Given the description of an element on the screen output the (x, y) to click on. 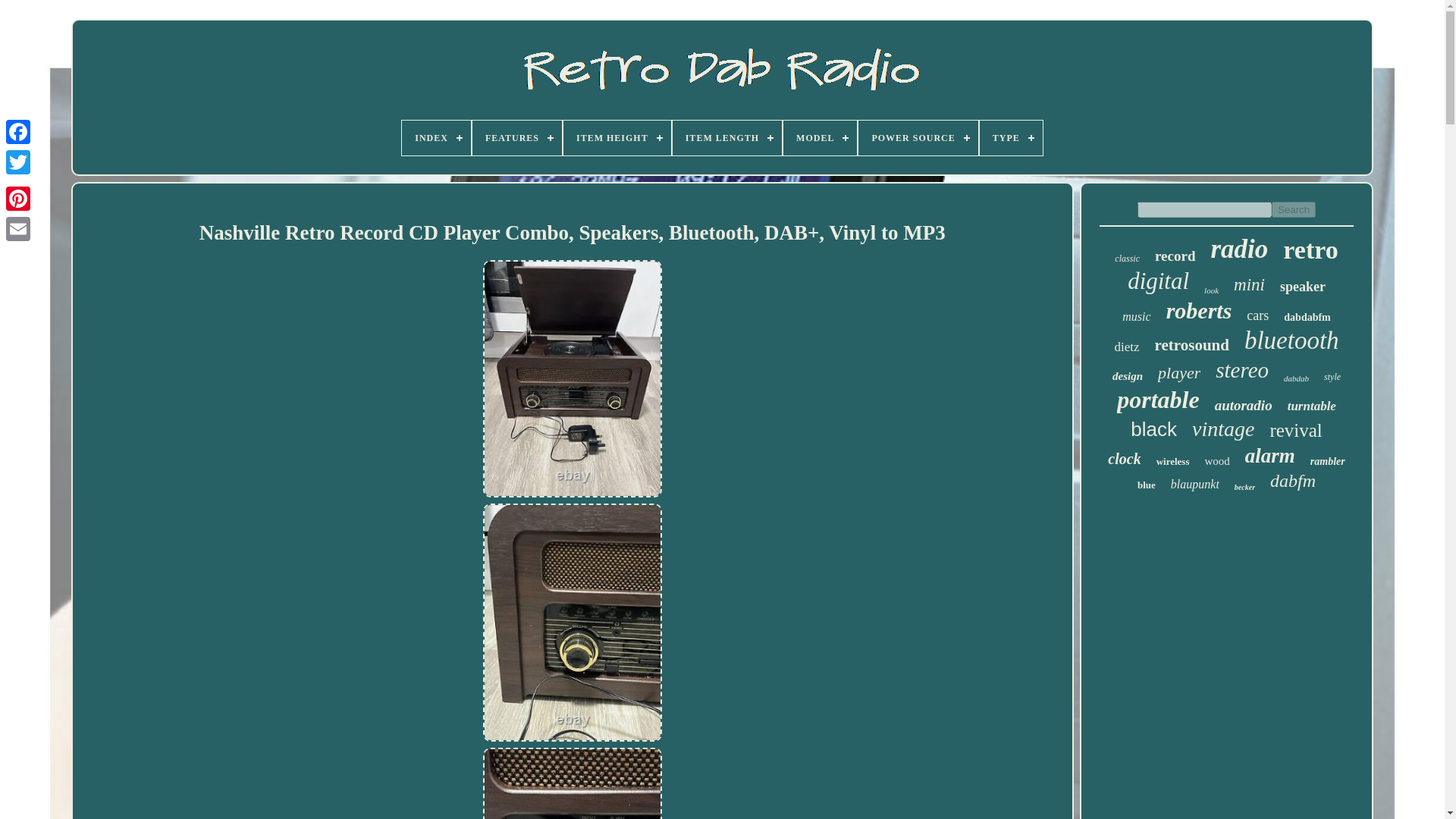
FEATURES (516, 137)
INDEX (435, 137)
ITEM HEIGHT (617, 137)
Search (1293, 209)
